Given the description of an element on the screen output the (x, y) to click on. 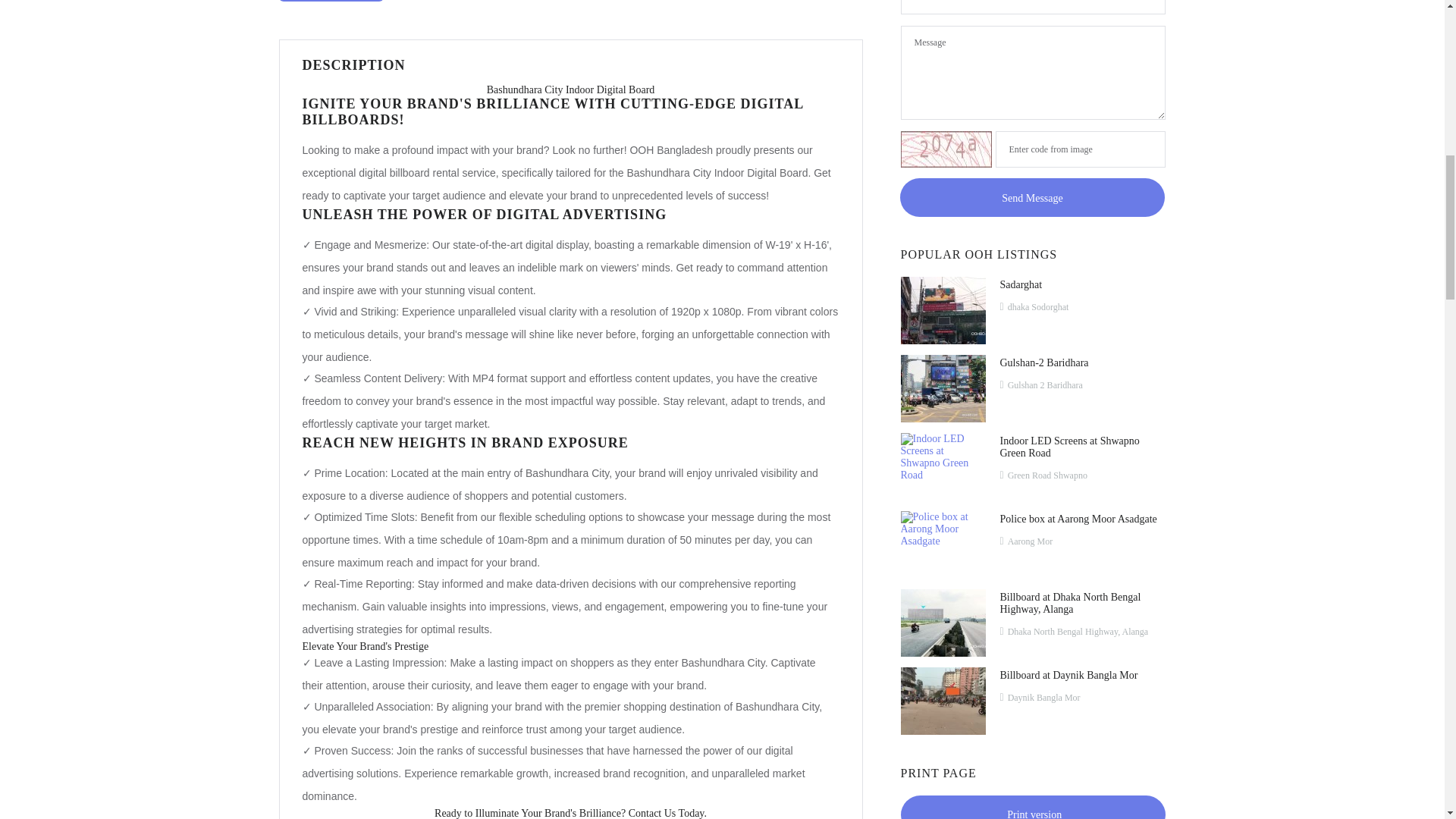
Add to favorites (331, 0)
